Given the description of an element on the screen output the (x, y) to click on. 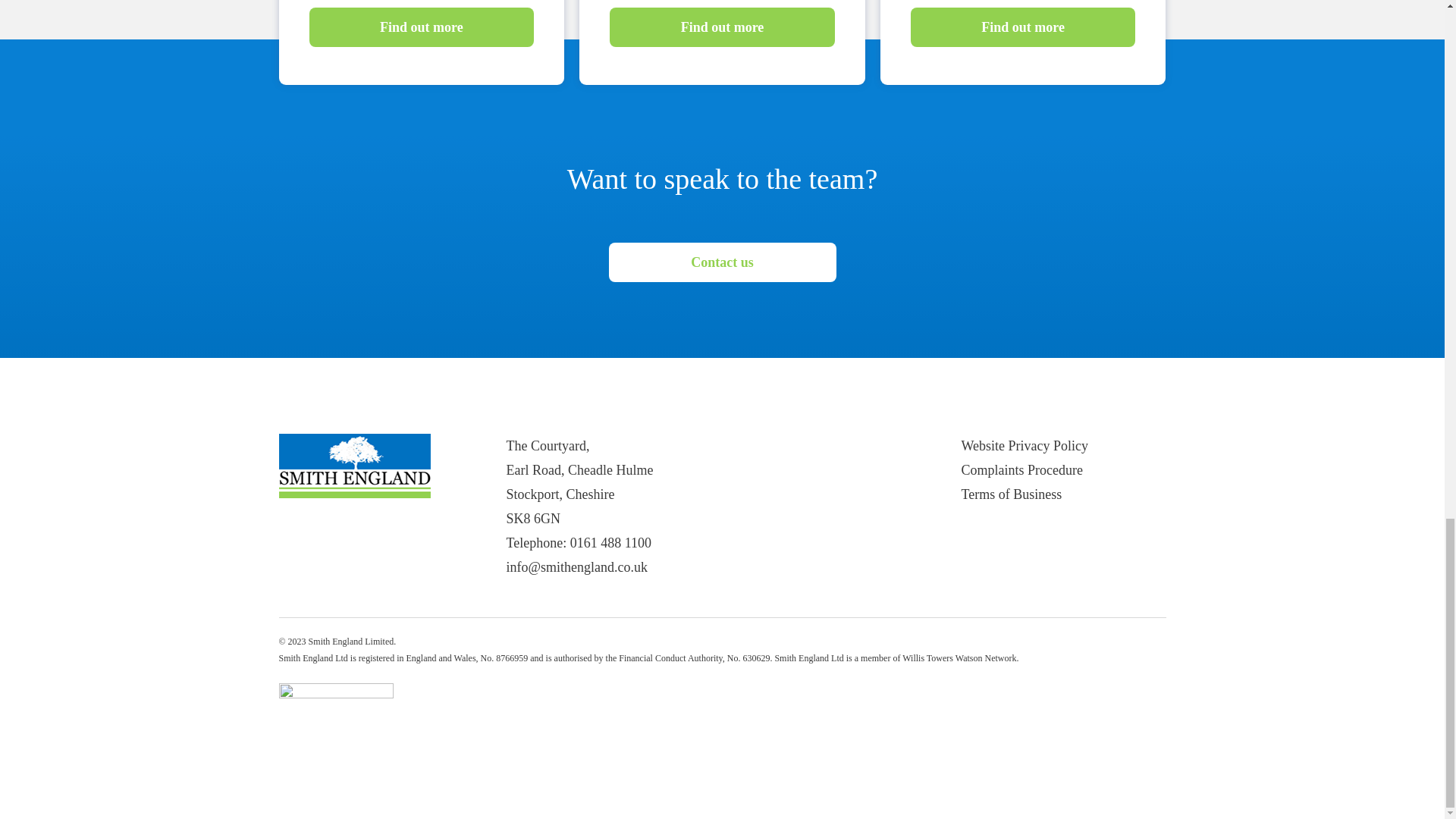
Find out more (421, 26)
0161 488 1100 (610, 542)
Contact us (721, 263)
Website Privacy Policy (1024, 445)
Terms of Business (1011, 494)
Complaints Procedure (1021, 469)
Contact us (721, 261)
Find out more (1023, 26)
Find out more (722, 26)
